Given the description of an element on the screen output the (x, y) to click on. 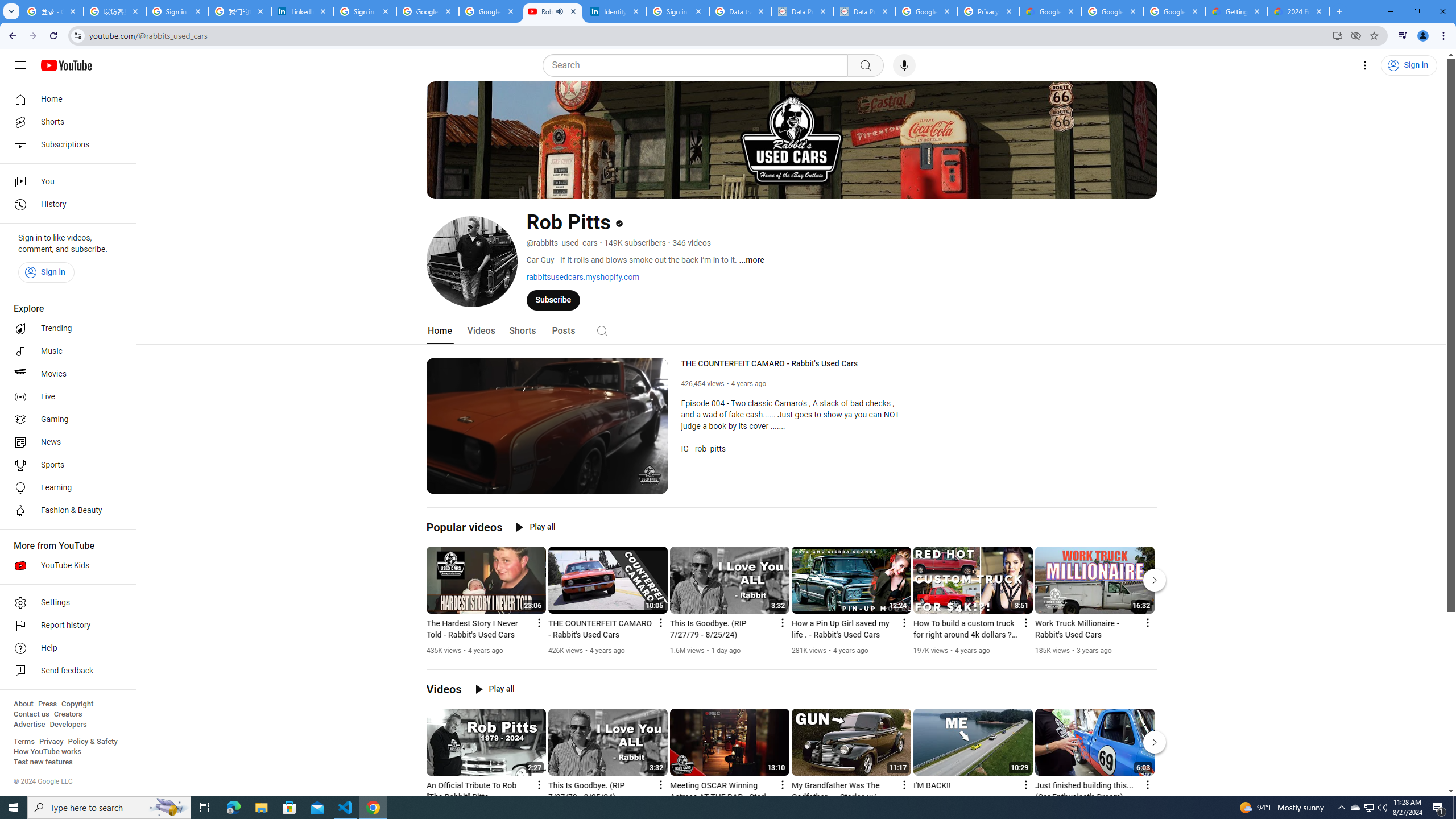
Subtitles/closed captions unavailable (609, 483)
Sign in - Google Accounts (365, 11)
Popular videos (464, 526)
YouTube Home (66, 65)
About (23, 703)
Data Privacy Framework (864, 11)
Videos (481, 330)
Copyright (77, 703)
YouTube Kids (64, 565)
Movies (64, 373)
Fashion & Beauty (64, 510)
